Given the description of an element on the screen output the (x, y) to click on. 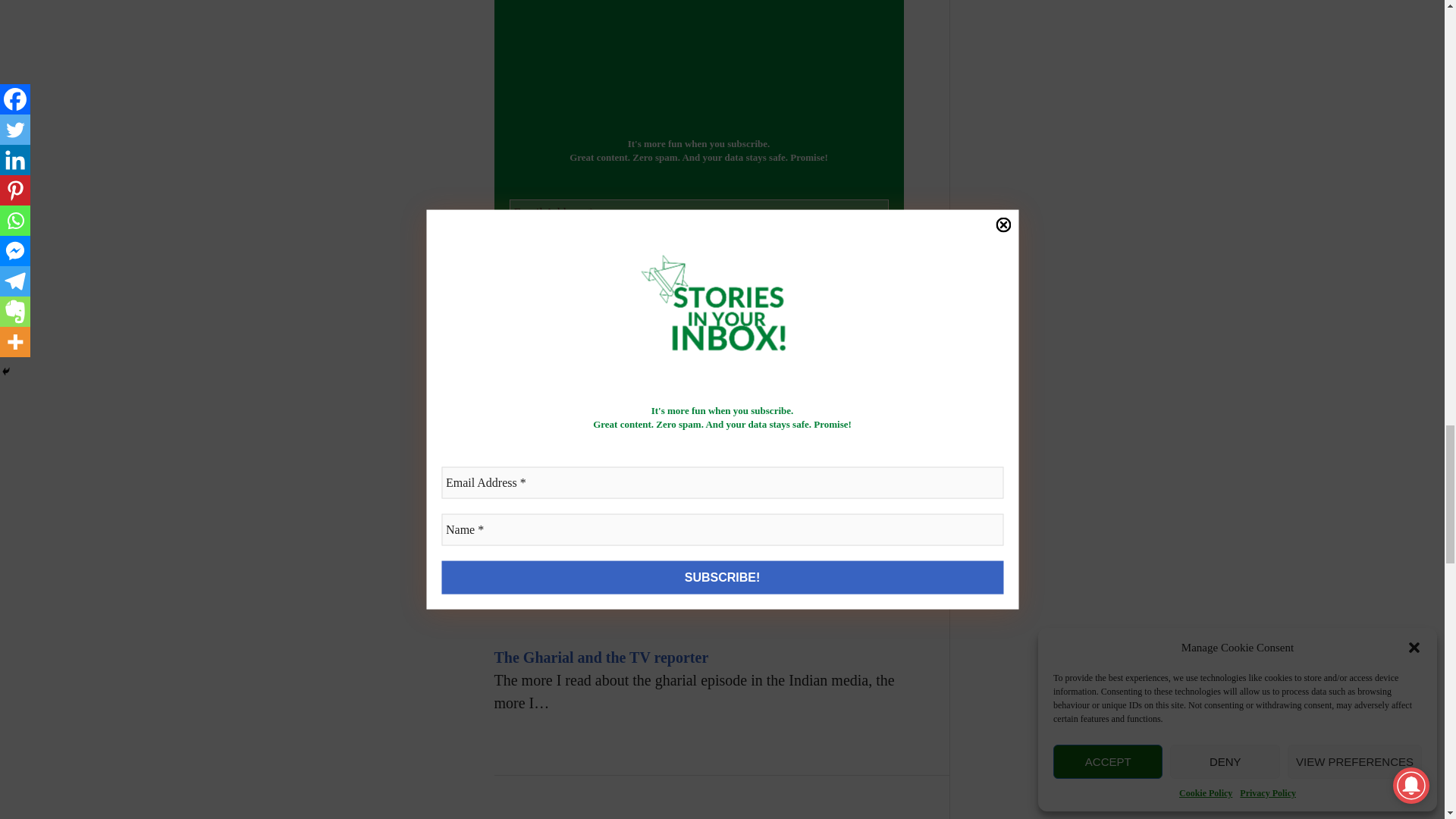
Subscribe! (698, 298)
Email Address (698, 212)
Name (698, 255)
